Given the description of an element on the screen output the (x, y) to click on. 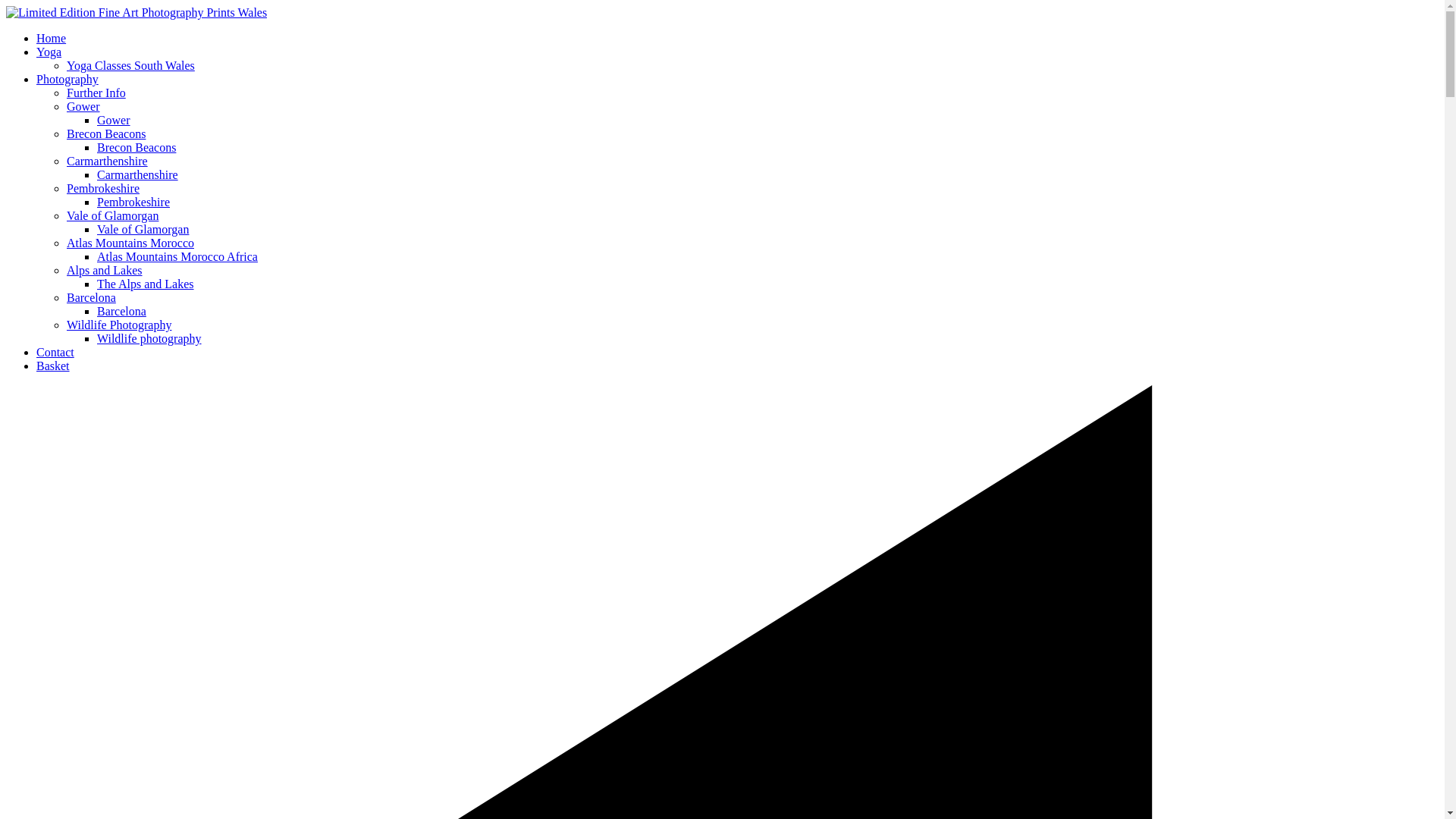
Brecon Beacons (105, 133)
Yoga Classes South Wales (130, 65)
Atlas Mountains Morocco Africa (177, 256)
Atlas Mountains Morocco (129, 242)
Basket (52, 365)
Pembrokeshire (102, 187)
Contact (55, 351)
Home (50, 38)
Barcelona (122, 310)
Gower (83, 106)
